Given the description of an element on the screen output the (x, y) to click on. 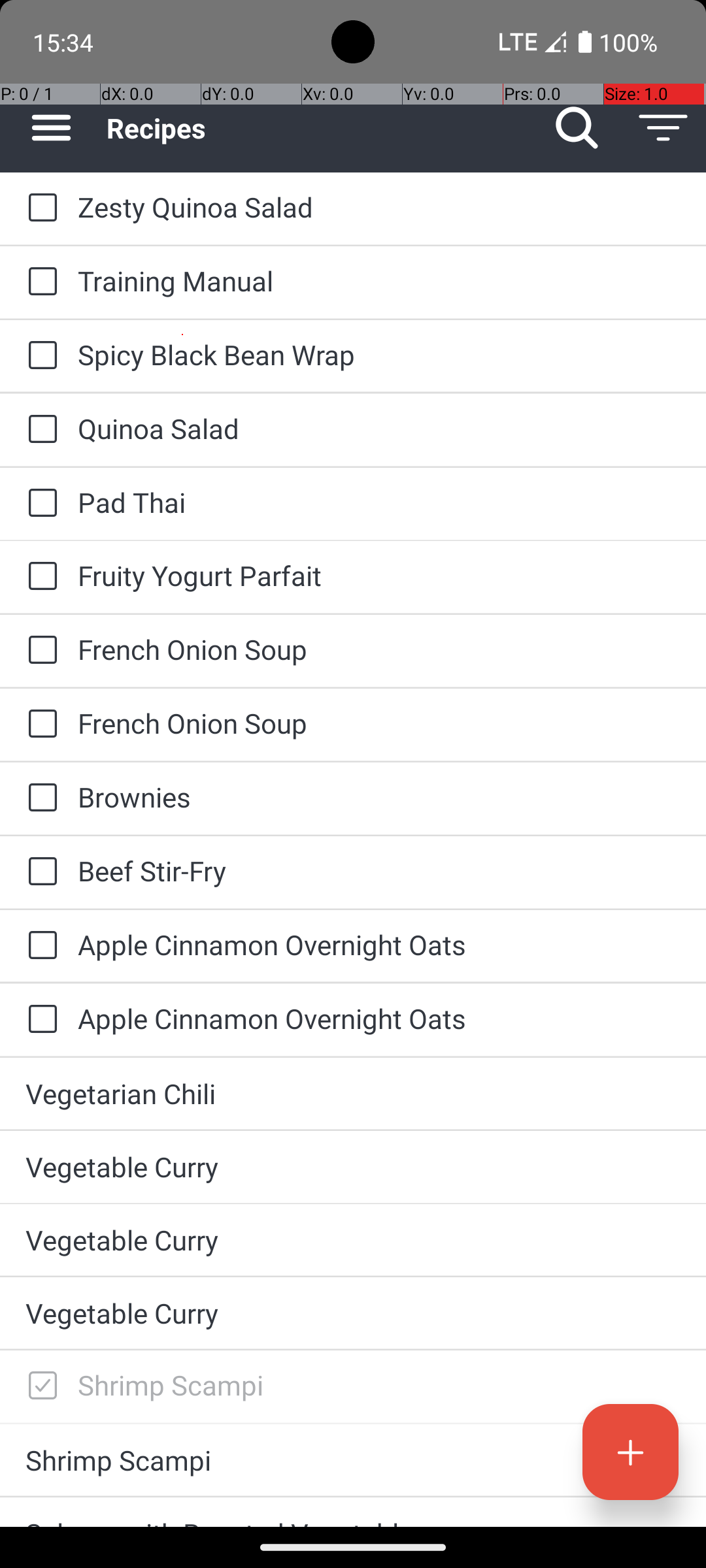
to-do: Zesty Quinoa Salad Element type: android.widget.CheckBox (38, 208)
Zesty Quinoa Salad Element type: android.widget.TextView (378, 206)
to-do: Training Manual Element type: android.widget.CheckBox (38, 282)
Training Manual Element type: android.widget.TextView (378, 280)
to-do: Spicy Black Bean Wrap Element type: android.widget.CheckBox (38, 356)
Spicy Black Bean Wrap Element type: android.widget.TextView (378, 354)
to-do: Quinoa Salad Element type: android.widget.CheckBox (38, 429)
Quinoa Salad Element type: android.widget.TextView (378, 427)
to-do: Pad Thai Element type: android.widget.CheckBox (38, 503)
Pad Thai Element type: android.widget.TextView (378, 501)
to-do: Fruity Yogurt Parfait Element type: android.widget.CheckBox (38, 576)
Fruity Yogurt Parfait Element type: android.widget.TextView (378, 574)
to-do: French Onion Soup Element type: android.widget.CheckBox (38, 650)
French Onion Soup Element type: android.widget.TextView (378, 648)
to-do: Brownies Element type: android.widget.CheckBox (38, 798)
Brownies Element type: android.widget.TextView (378, 796)
to-do: Beef Stir-Fry Element type: android.widget.CheckBox (38, 872)
Beef Stir-Fry Element type: android.widget.TextView (378, 870)
to-do: Apple Cinnamon Overnight Oats Element type: android.widget.CheckBox (38, 945)
Apple Cinnamon Overnight Oats Element type: android.widget.TextView (378, 944)
Vegetarian Chili Element type: android.widget.TextView (352, 1092)
Vegetable Curry Element type: android.widget.TextView (352, 1166)
to-do: Shrimp Scampi Element type: android.widget.CheckBox (38, 1386)
Shrimp Scampi Element type: android.widget.TextView (378, 1384)
Salmon with Roasted Vegetables Element type: android.widget.TextView (352, 1520)
